Given the description of an element on the screen output the (x, y) to click on. 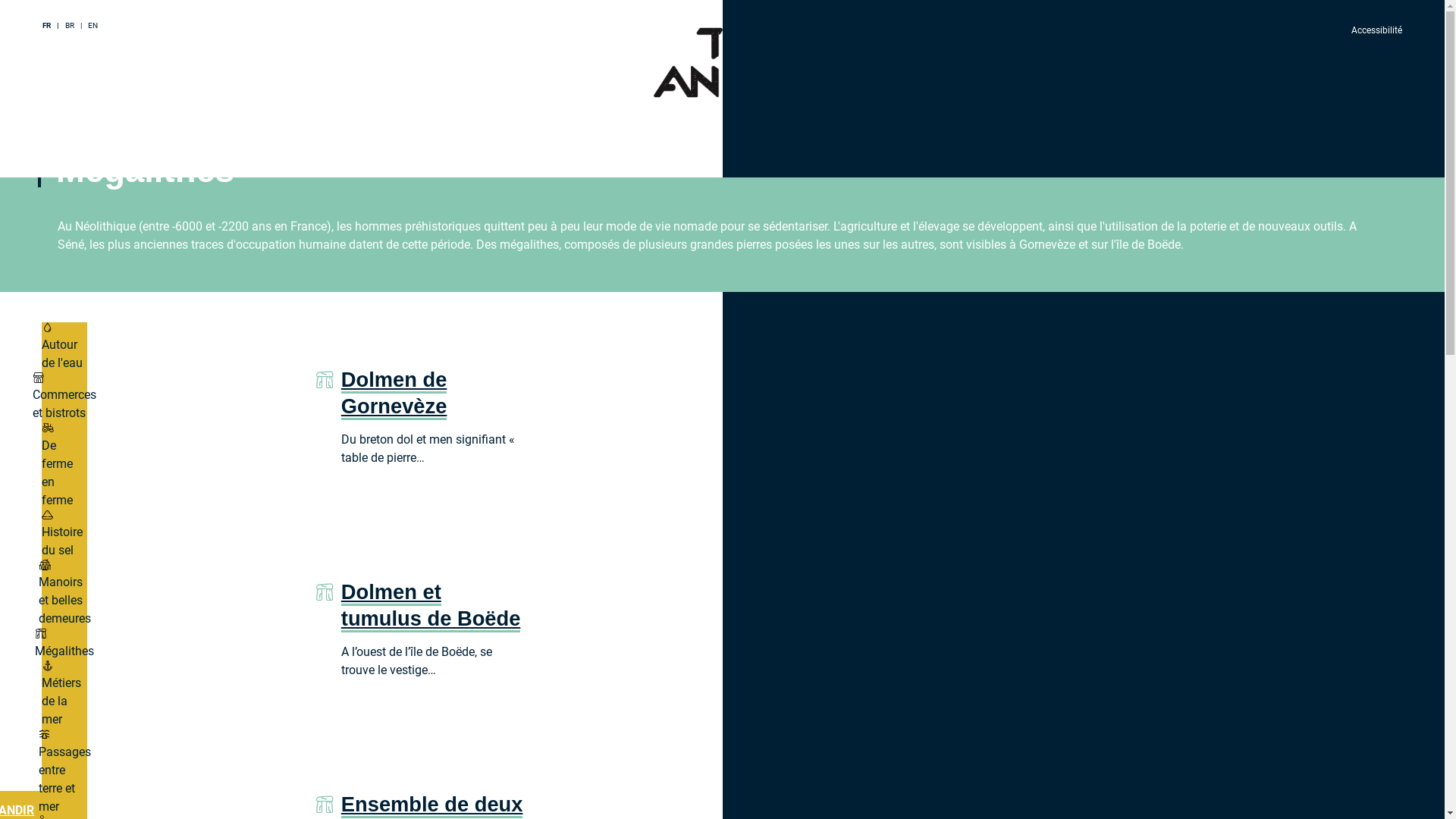
FR Element type: text (47, 25)
Proposer un contenu Element type: text (92, 133)
BR Element type: text (70, 25)
EN Element type: text (92, 25)
Menu Element type: text (49, 80)
